Given the description of an element on the screen output the (x, y) to click on. 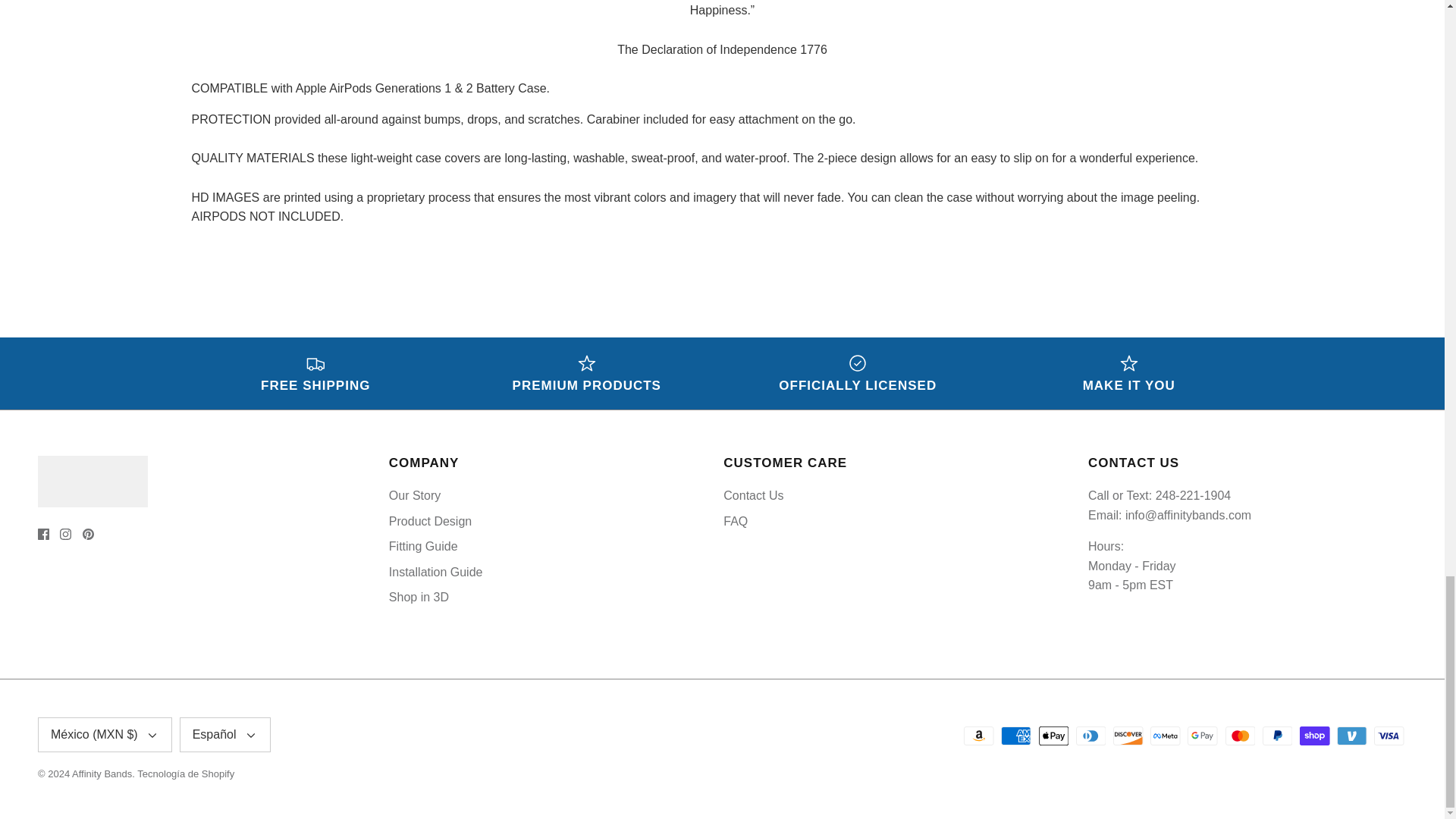
Facebook (43, 533)
